Given the description of an element on the screen output the (x, y) to click on. 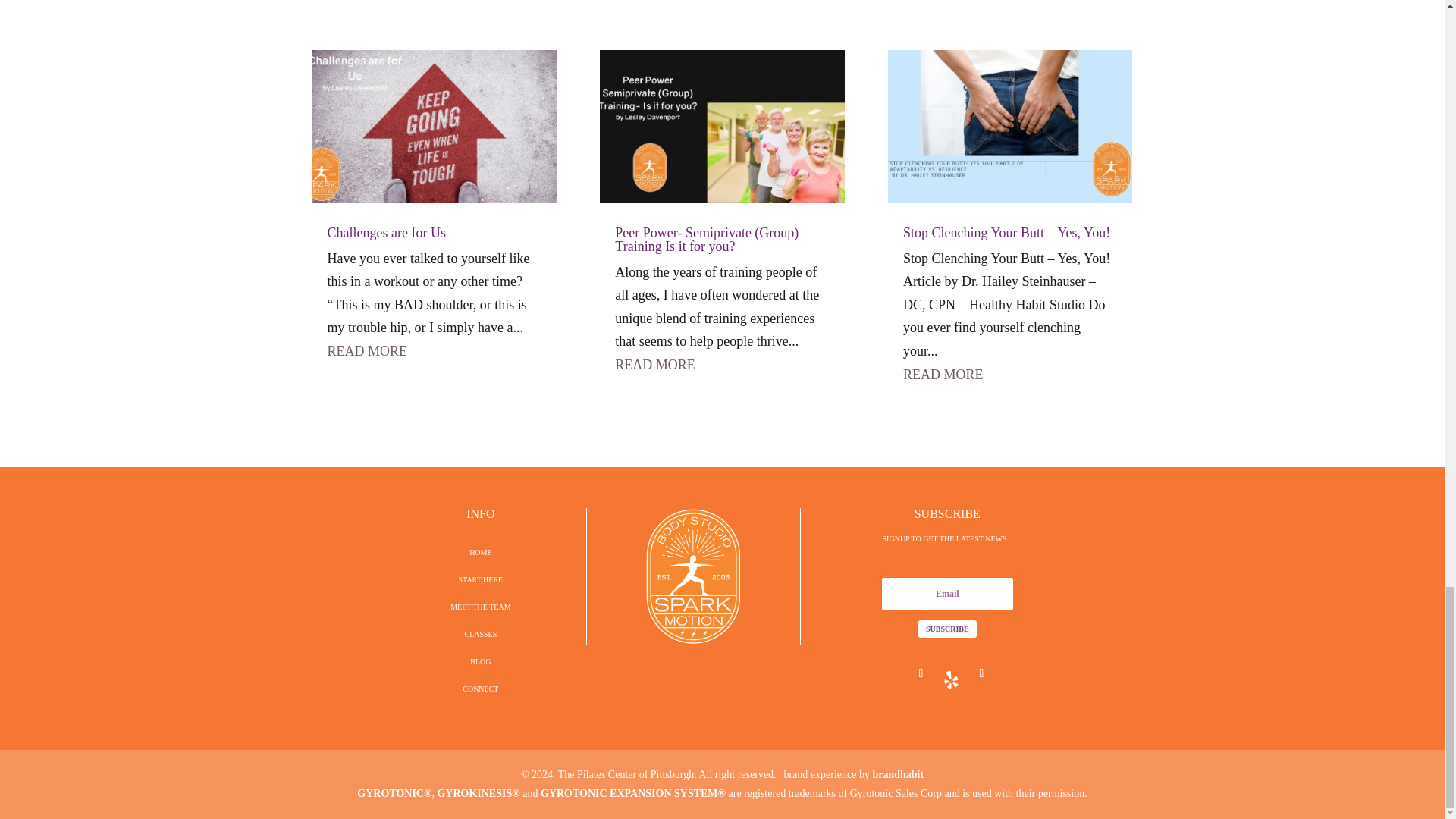
MEET THE TEAM (480, 606)
CONNECT (480, 688)
Follow on Facebook (920, 672)
HOME (480, 551)
START HERE (480, 579)
BLOG (480, 661)
spark-motion-footer-logo (692, 575)
CLASSES (480, 633)
